Given the description of an element on the screen output the (x, y) to click on. 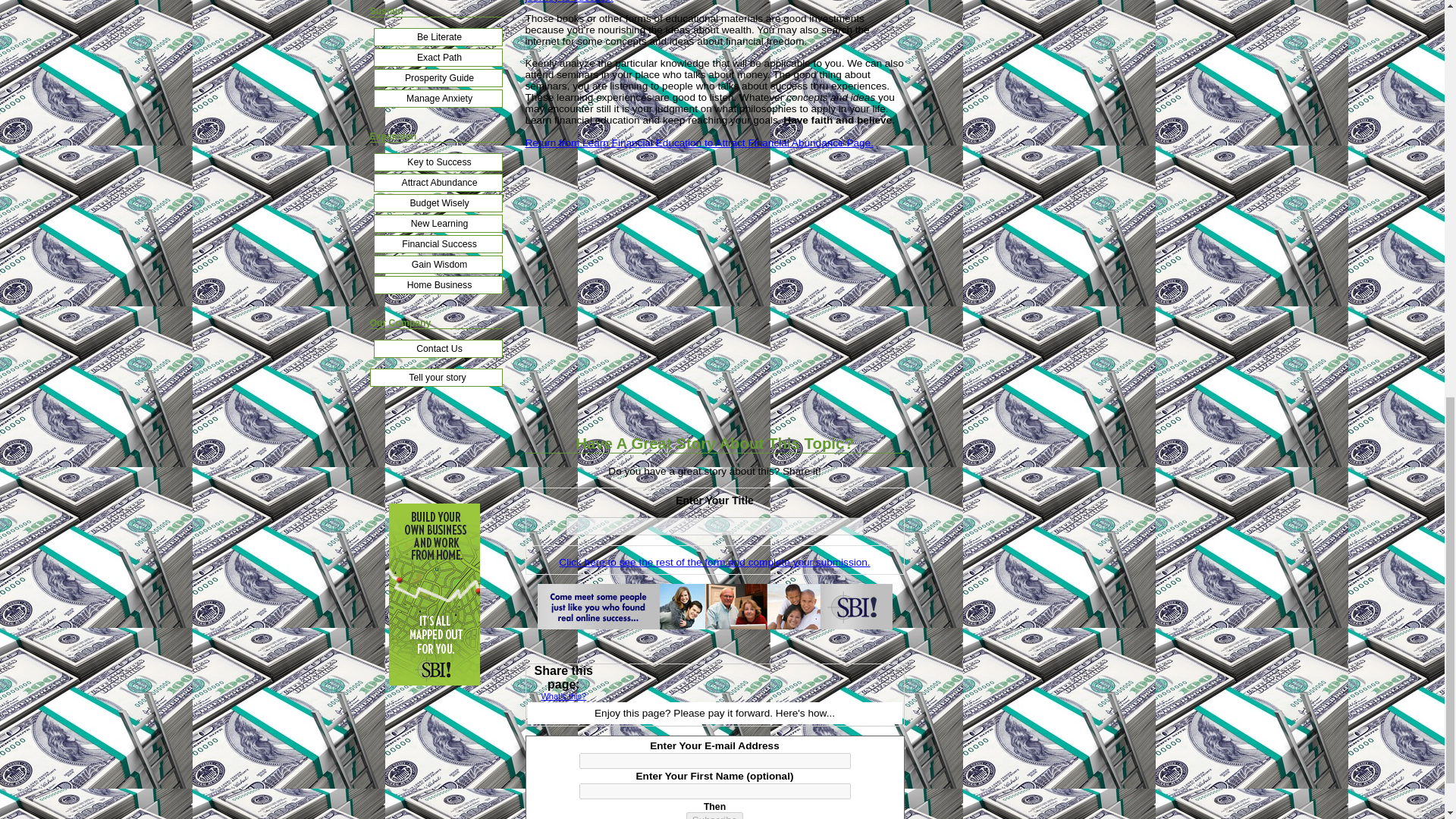
Key to Success (437, 162)
journey to success. (568, 1)
Budget Wisely (437, 203)
Subscribe (713, 815)
Prosperity Guide (437, 77)
Be Literate (437, 36)
New Learning (437, 223)
Home Business (437, 285)
